Given the description of an element on the screen output the (x, y) to click on. 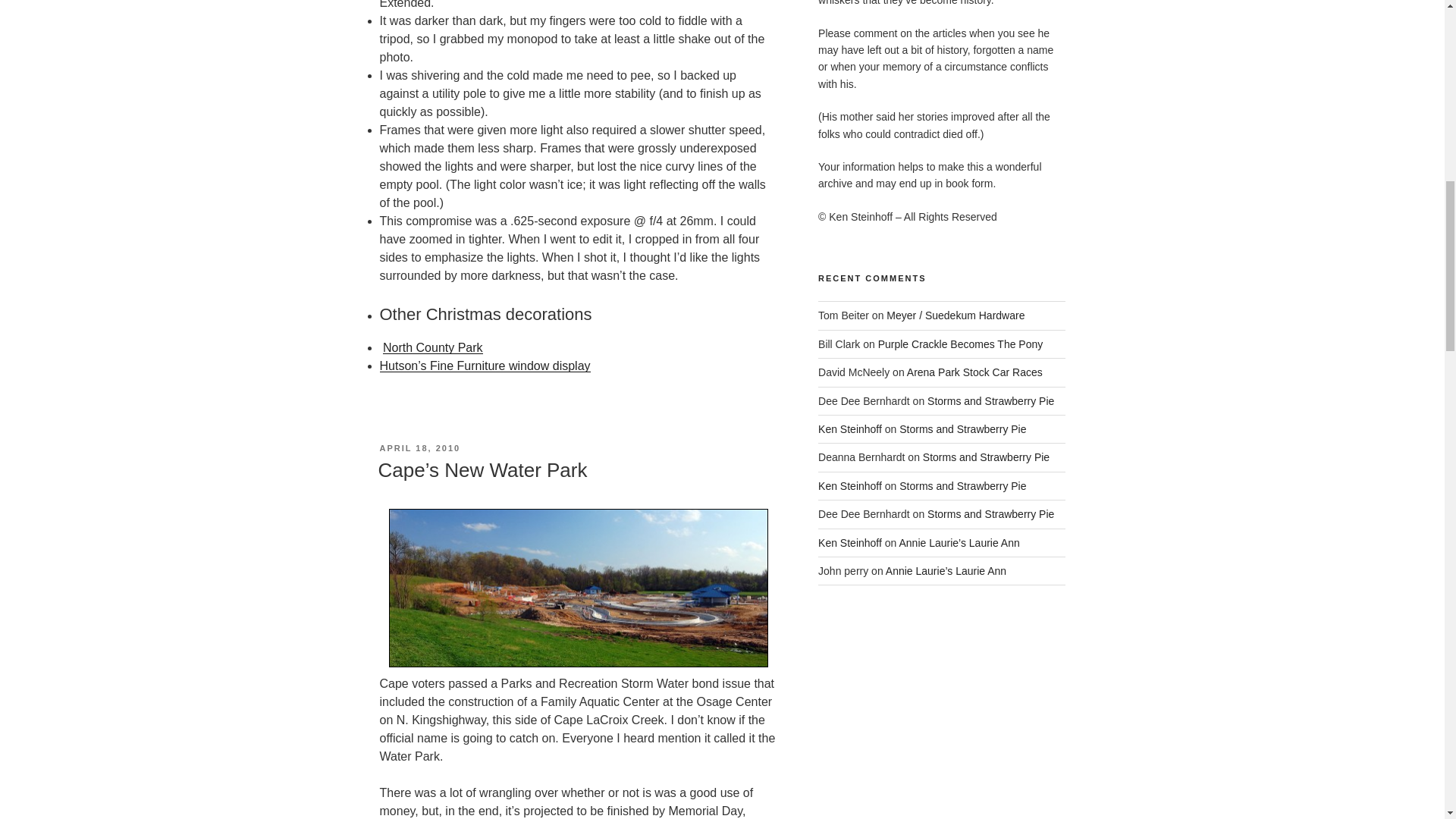
Storms and Strawberry Pie (962, 485)
Ken Steinhoff (850, 485)
APRIL 18, 2010 (419, 447)
Arena Park Stock Car Races (974, 372)
Storms and Strawberry Pie (986, 457)
North County Park Christmas display (432, 347)
Storms and Strawberry Pie (962, 428)
Purple Crackle Becomes The Pony (960, 344)
North County Park (432, 347)
Ken Steinhoff (850, 542)
Storms and Strawberry Pie (990, 513)
Ken Steinhoff (850, 428)
Storms and Strawberry Pie (990, 400)
Cape Water Park 04-05-2010 (578, 587)
Hutson's Christmas Display 2011 (483, 365)
